Given the description of an element on the screen output the (x, y) to click on. 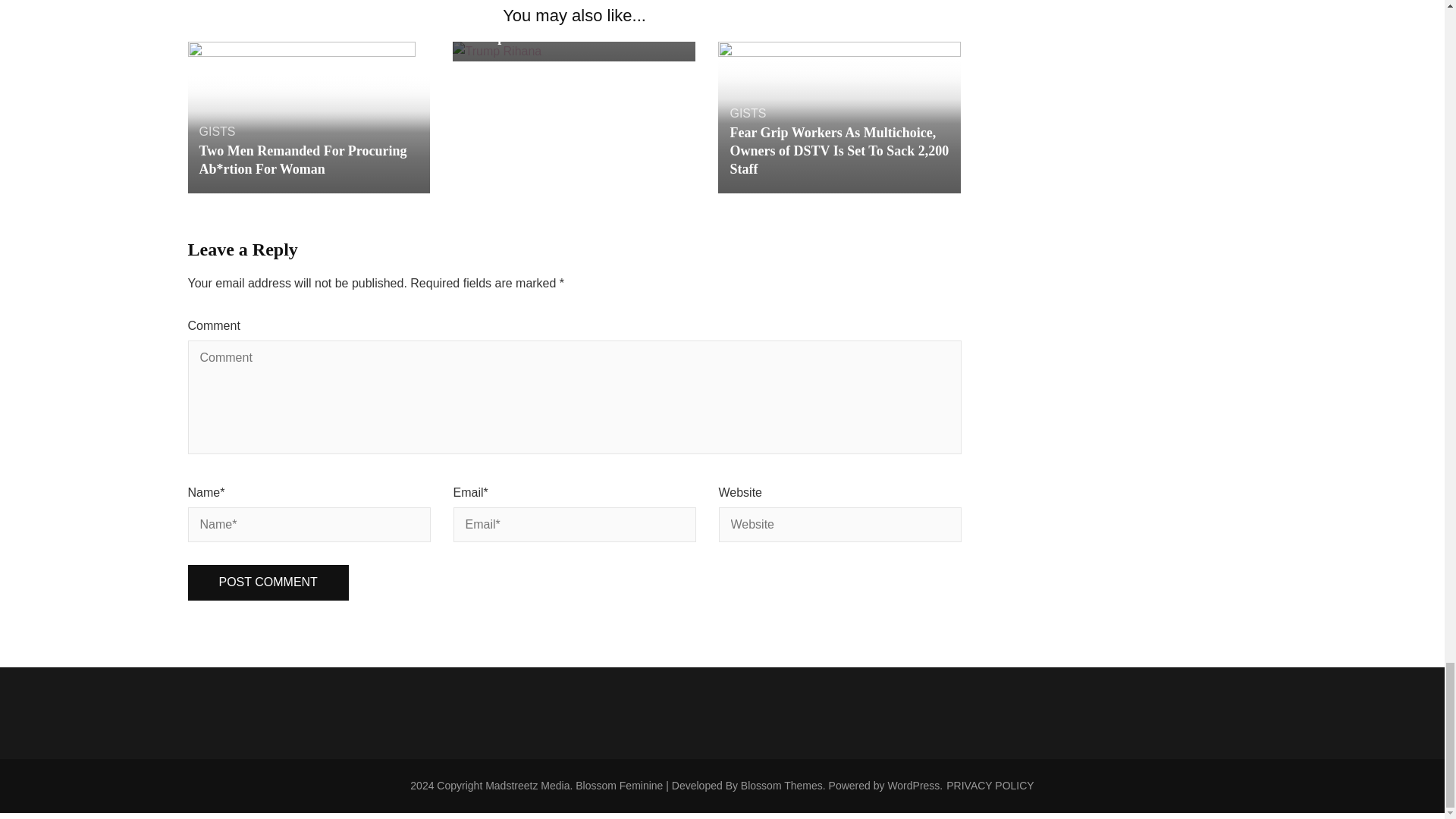
Post Comment (268, 582)
